Given the description of an element on the screen output the (x, y) to click on. 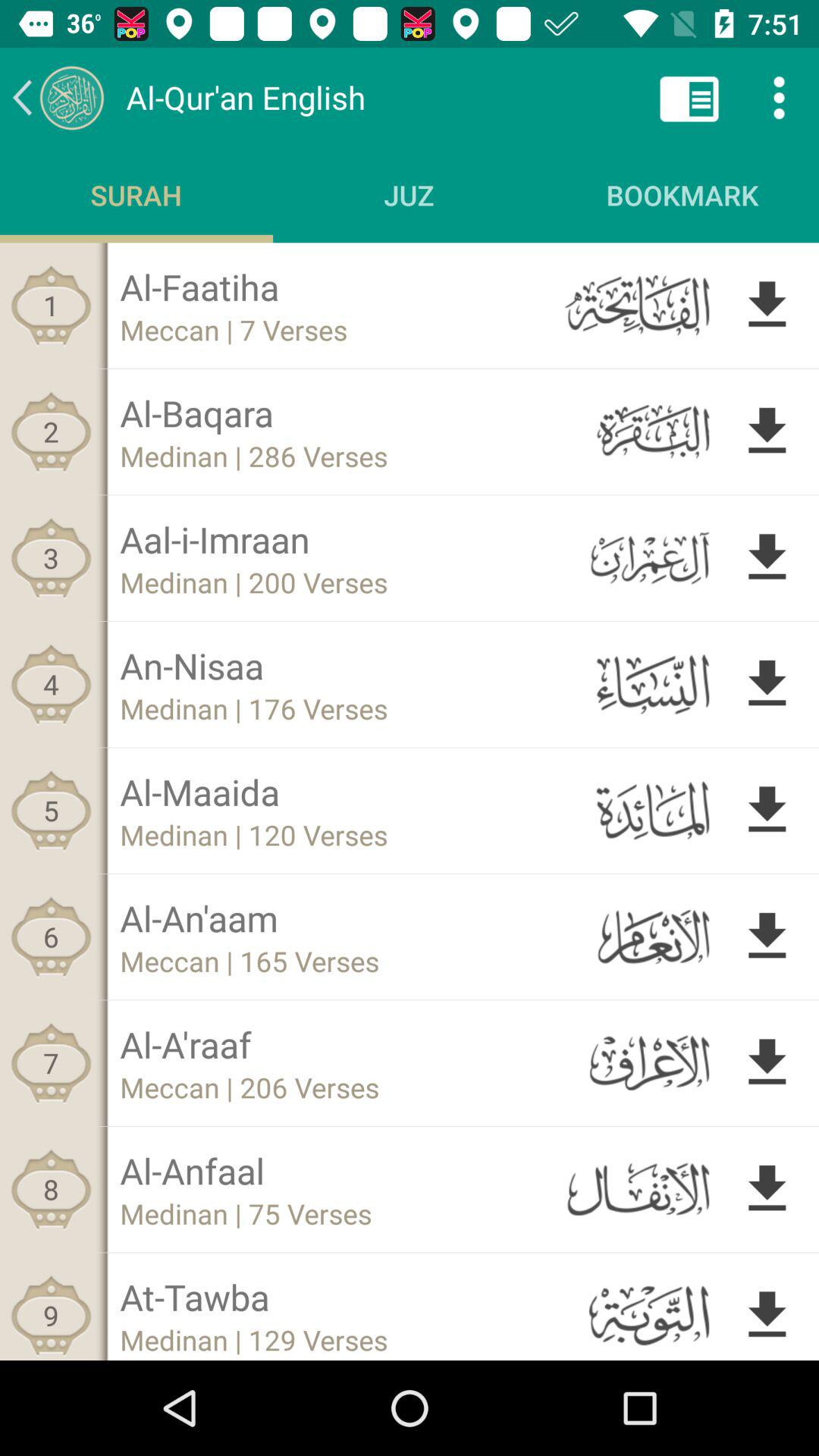
downloads a qur'an verse (767, 557)
